Given the description of an element on the screen output the (x, y) to click on. 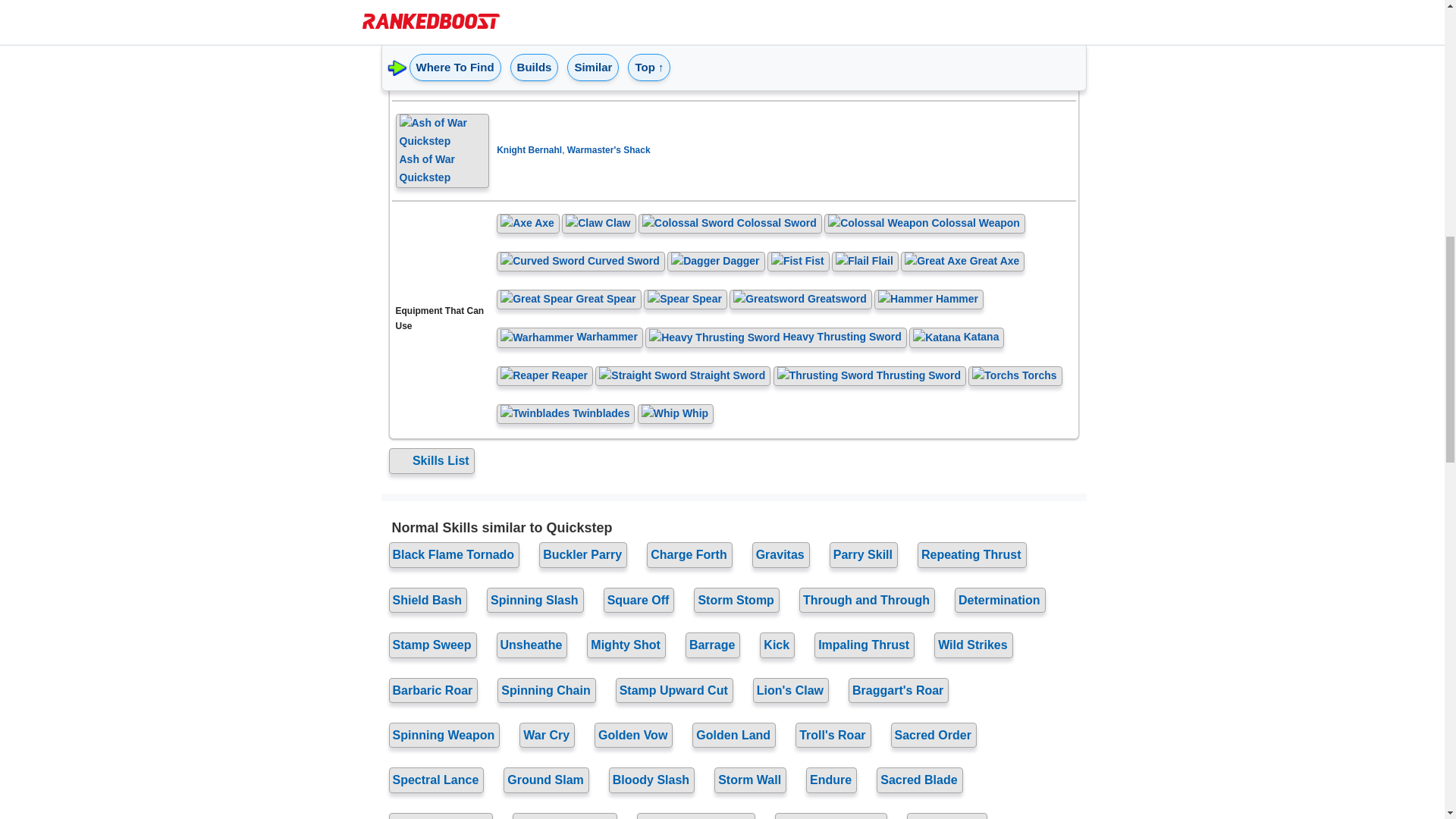
Warmaster's Shack (608, 149)
Warhammer (569, 337)
Spear (684, 299)
Flail (864, 261)
Colossal Weapon (924, 223)
Dagger (715, 261)
Ash of War Quickstep (442, 150)
Curved Sword (580, 261)
Axe (527, 223)
Fist (798, 261)
